Given the description of an element on the screen output the (x, y) to click on. 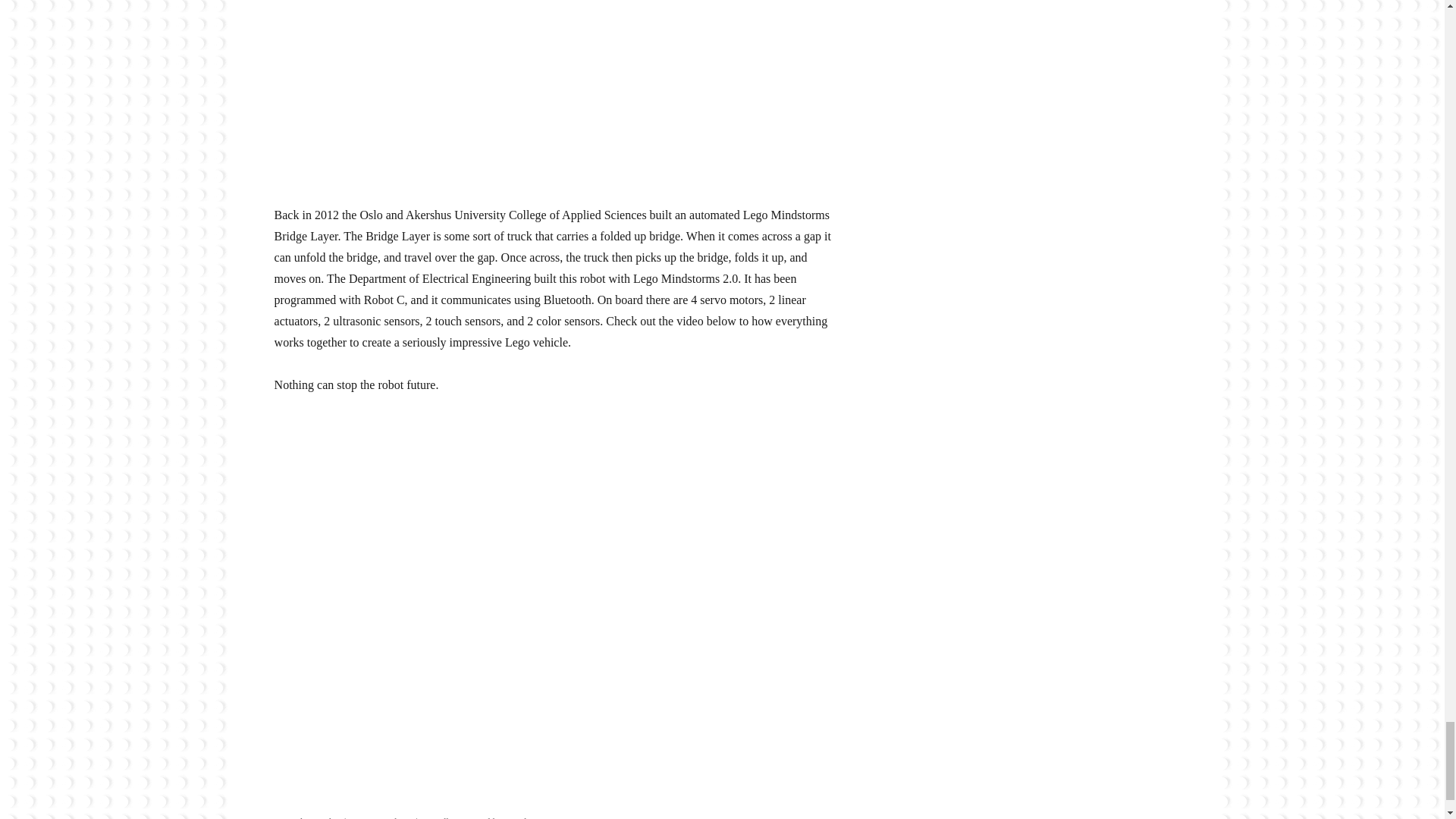
Lego Mindstorms Bridge Layer (548, 91)
